Given the description of an element on the screen output the (x, y) to click on. 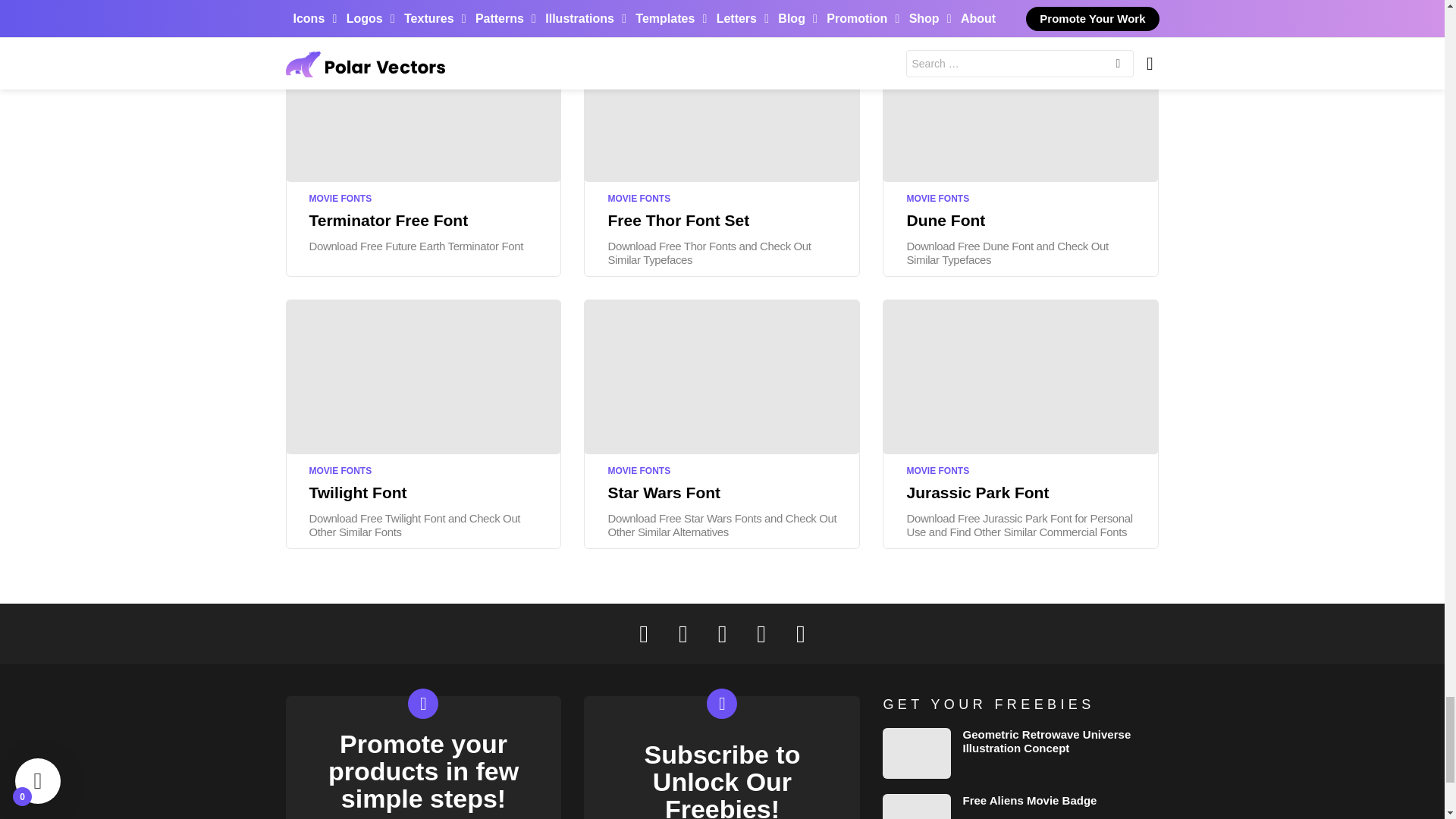
Geometric Retrowave Universe Illustration Concept (916, 753)
Free Thor Font Set (721, 103)
Terminator Free Font (422, 103)
Jurassic Park Font (1020, 376)
Free Aliens Movie Badge (916, 806)
Star Wars Font (721, 376)
Twilight Font (422, 376)
Dune Font (1020, 103)
